Given the description of an element on the screen output the (x, y) to click on. 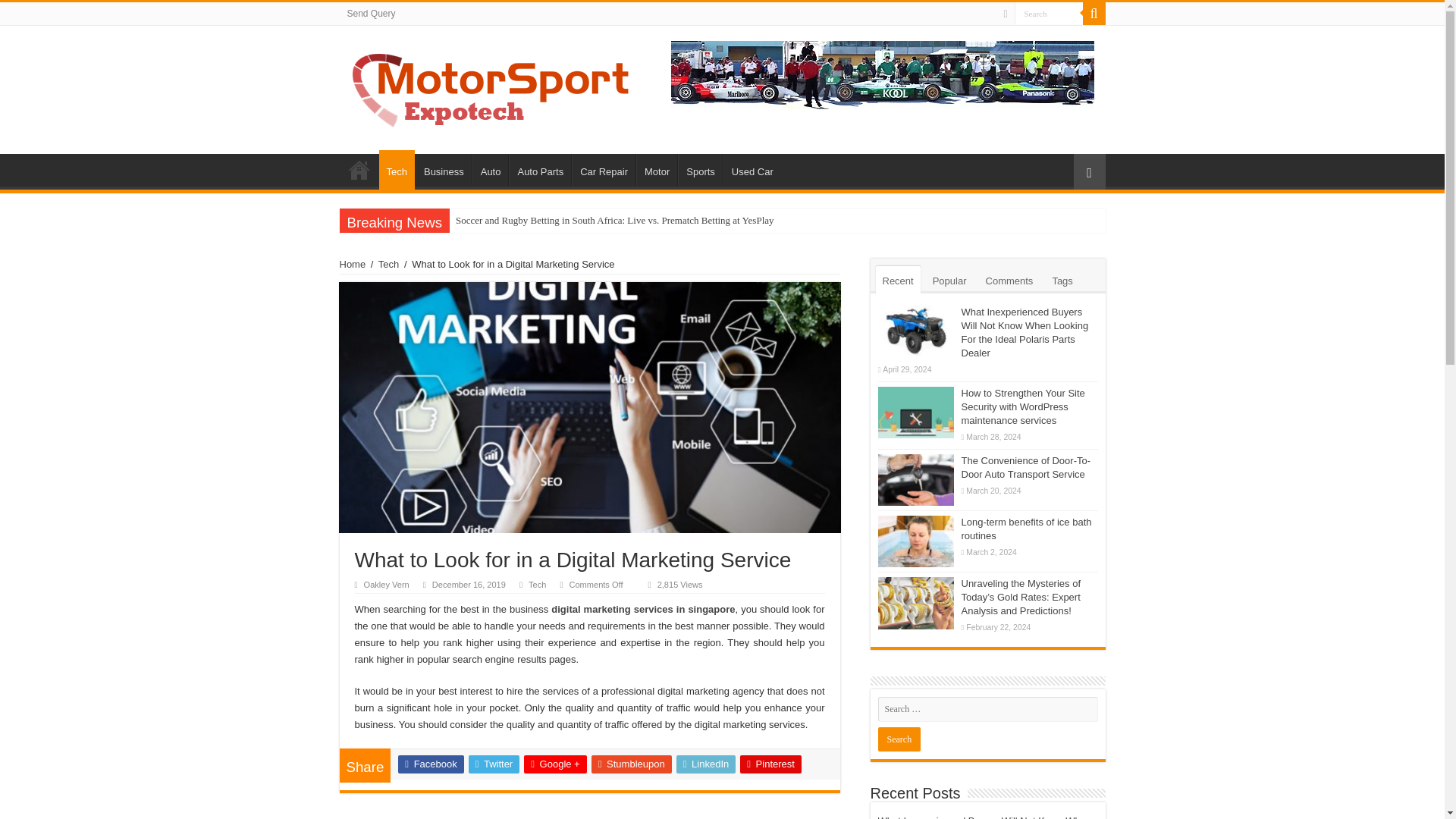
Tech (396, 169)
Search (1048, 13)
Motor (656, 169)
Search (1048, 13)
Tech (388, 264)
Home (352, 264)
Sports (700, 169)
Used Car (751, 169)
Car Repair (603, 169)
Search (1048, 13)
Search (899, 739)
Send Query (371, 13)
Search (1094, 13)
Business (442, 169)
